Given the description of an element on the screen output the (x, y) to click on. 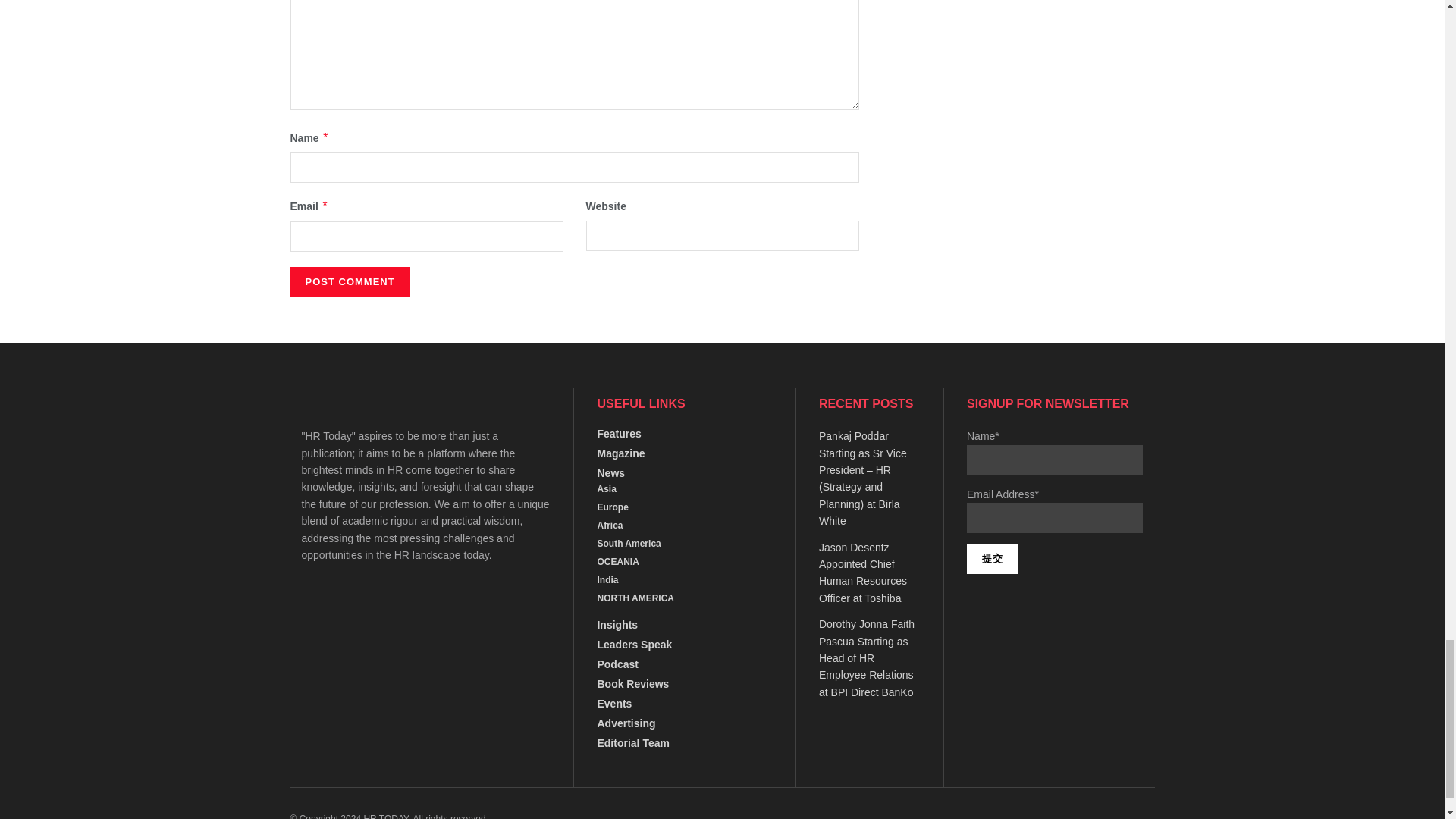
Post Comment (349, 281)
